Given the description of an element on the screen output the (x, y) to click on. 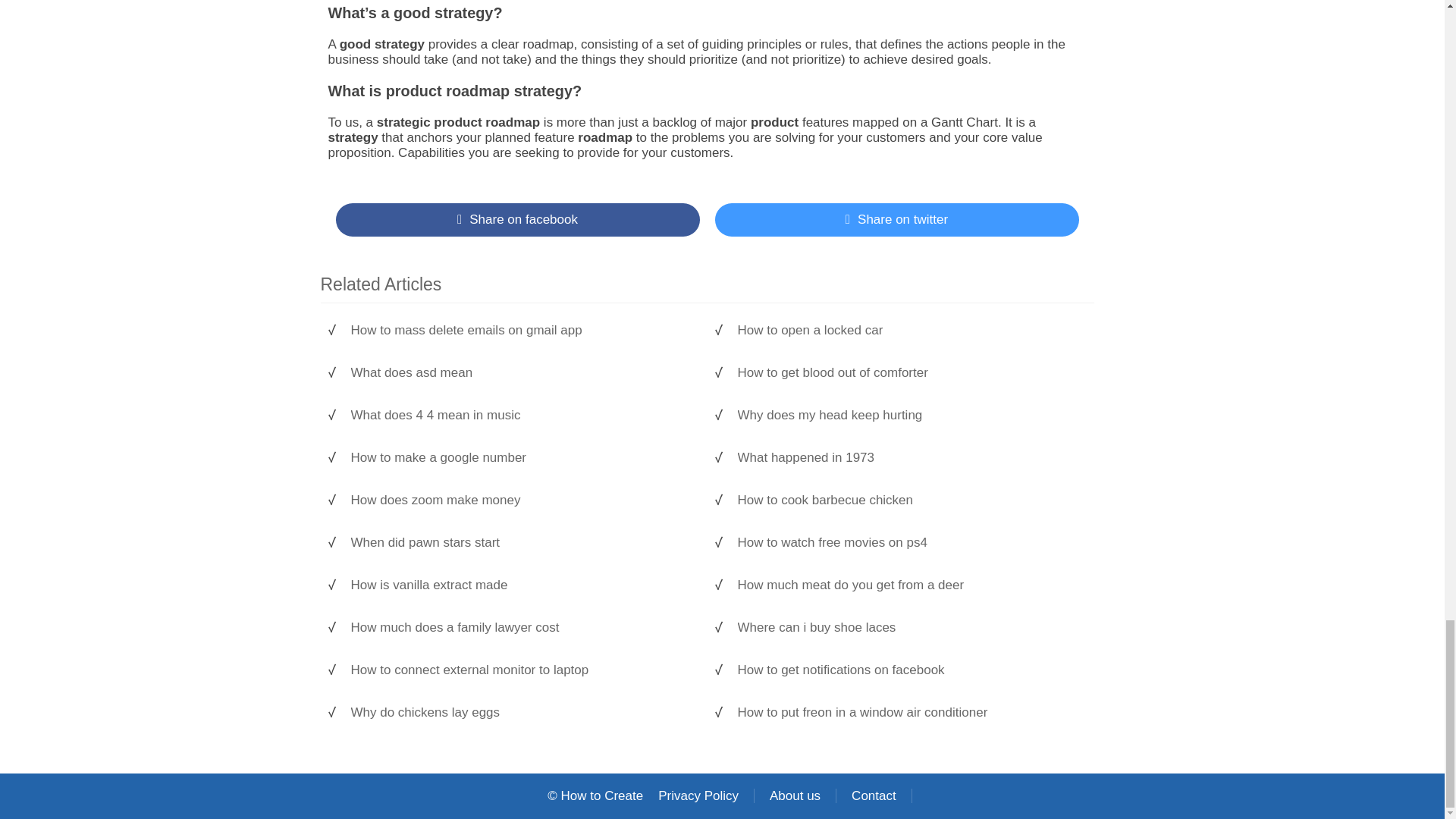
How to mass delete emails on gmail app (520, 330)
Why does my head keep hurting (907, 415)
How is vanilla extract made (520, 585)
Share on twitter (896, 219)
How does zoom make money (520, 500)
How to mass delete emails on gmail app (520, 330)
How to open a locked car (907, 330)
How to make a google number (520, 458)
How to make a google number (520, 458)
How to get blood out of comforter (907, 372)
